Given the description of an element on the screen output the (x, y) to click on. 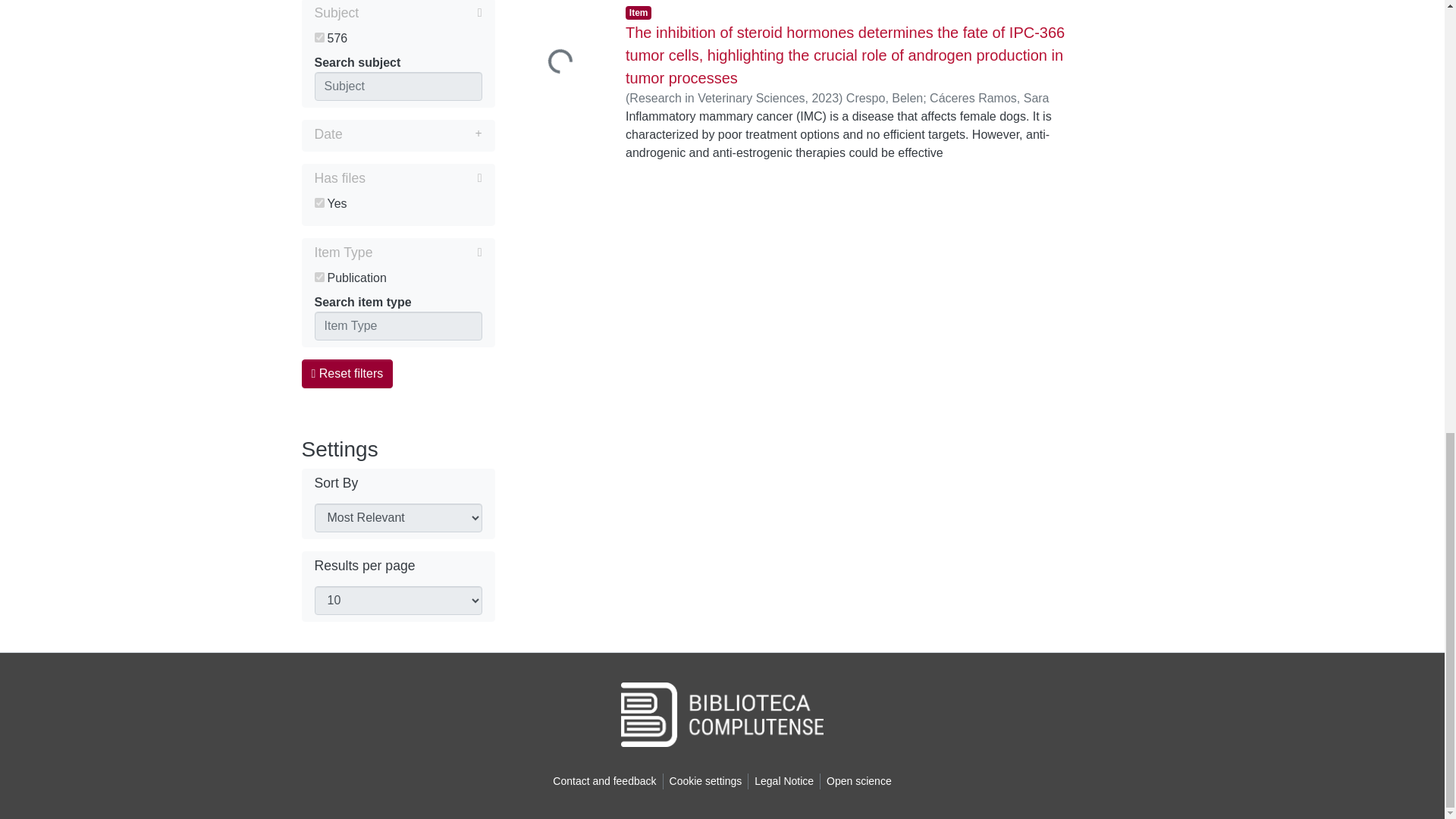
Collapse filter (426, 252)
on (318, 276)
on (318, 37)
Collapse filter (419, 13)
on (318, 203)
Collapse filter (423, 177)
Expand filter (411, 134)
